Given the description of an element on the screen output the (x, y) to click on. 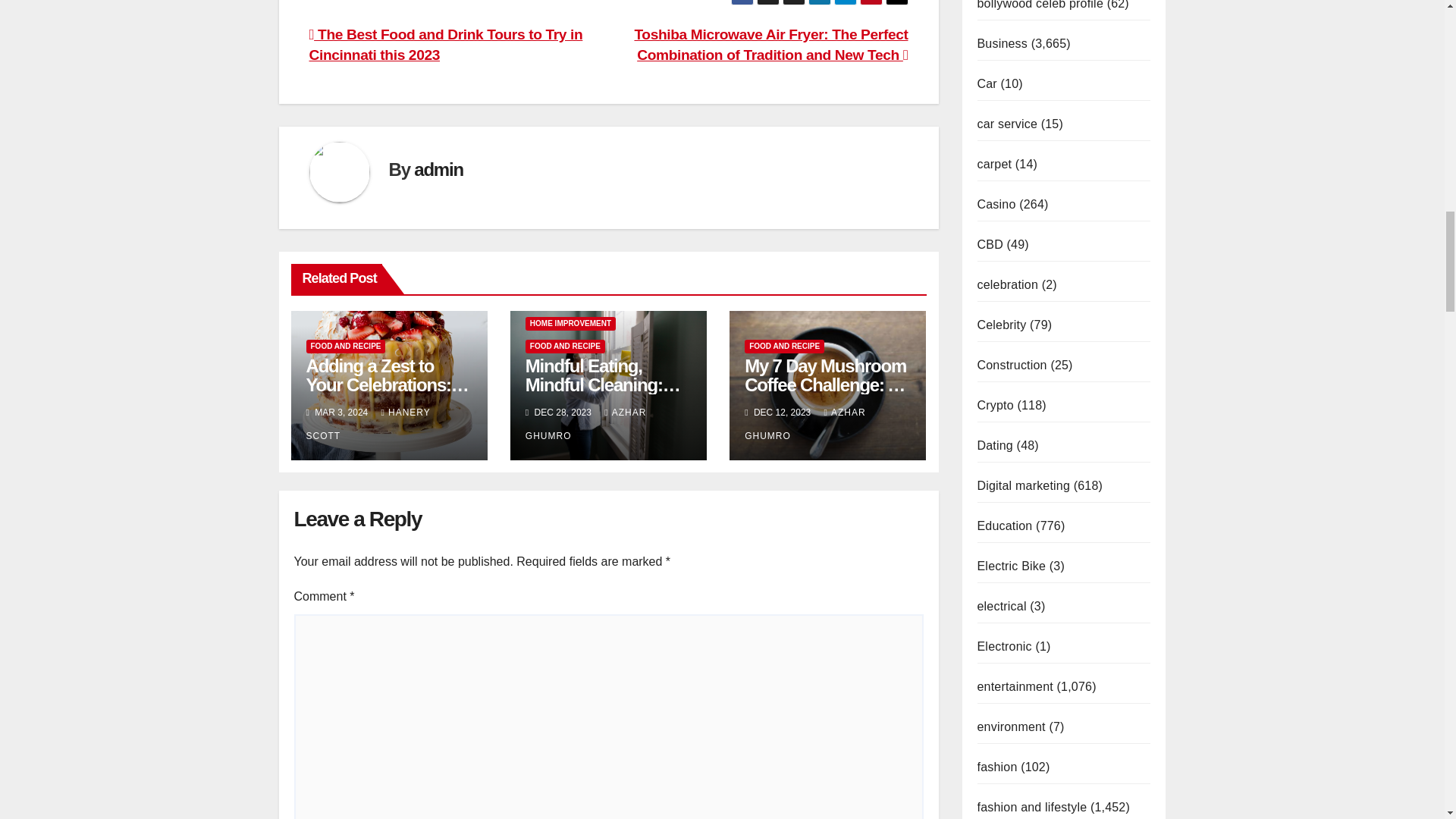
FOOD AND RECIPE (345, 345)
admin (438, 168)
The Best Food and Drink Tours to Try in Cincinnati this 2023 (445, 44)
HOME IMPROVEMENT (570, 323)
FOOD AND RECIPE (565, 345)
HANERY SCOTT (367, 424)
